Given the description of an element on the screen output the (x, y) to click on. 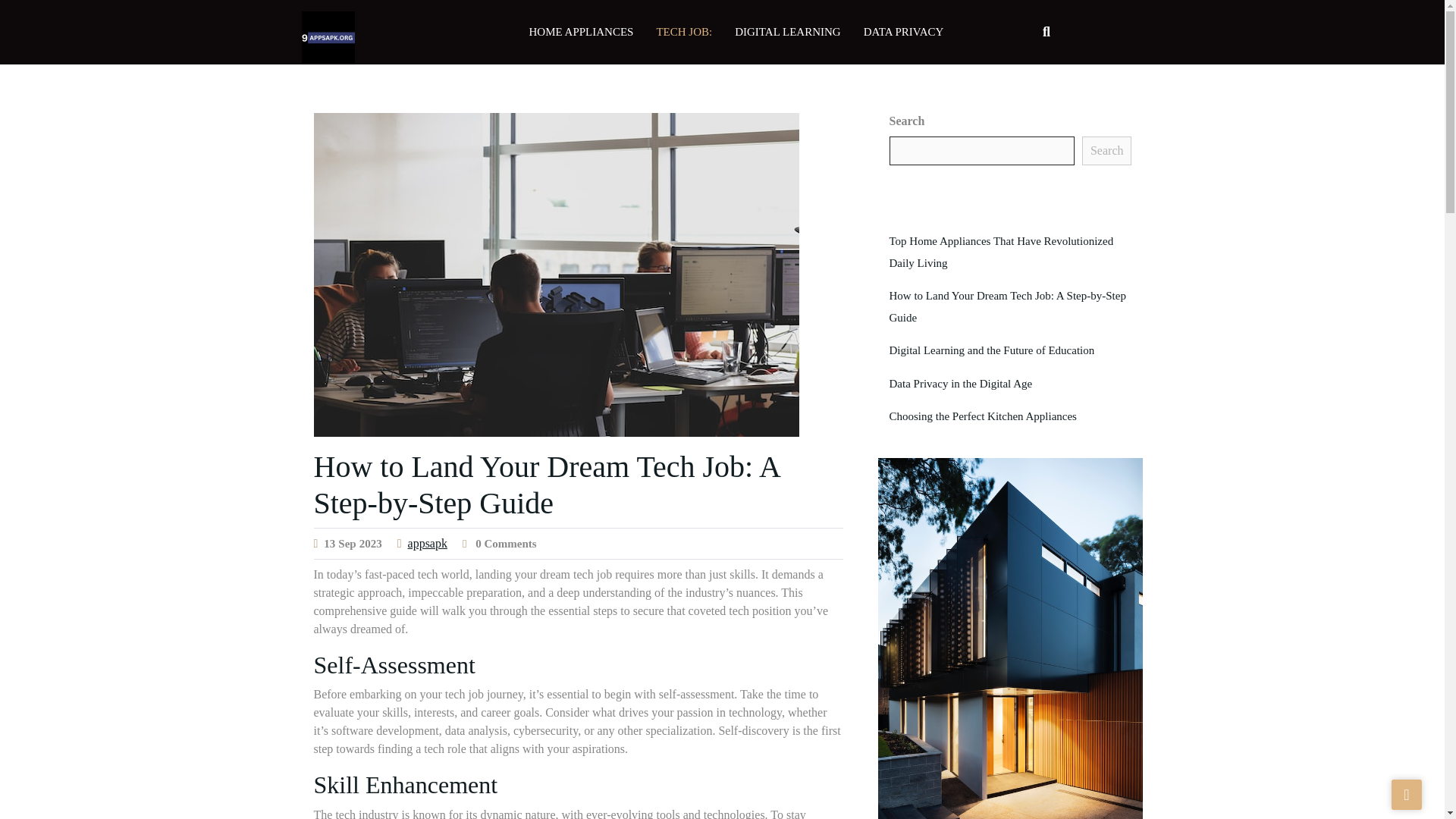
Data Privacy in the Digital Age (960, 383)
Search (1106, 150)
appsapk (426, 543)
TECH JOB: (684, 31)
How to Land Your Dream Tech Job: A Step-by-Step Guide (1006, 306)
Choosing the Perfect Kitchen Appliances (981, 416)
DATA PRIVACY (903, 31)
Top Home Appliances That Have Revolutionized Daily Living (1000, 252)
HOME APPLIANCES (580, 31)
Digital Learning and the Future of Education (991, 349)
DIGITAL LEARNING (787, 31)
